Given the description of an element on the screen output the (x, y) to click on. 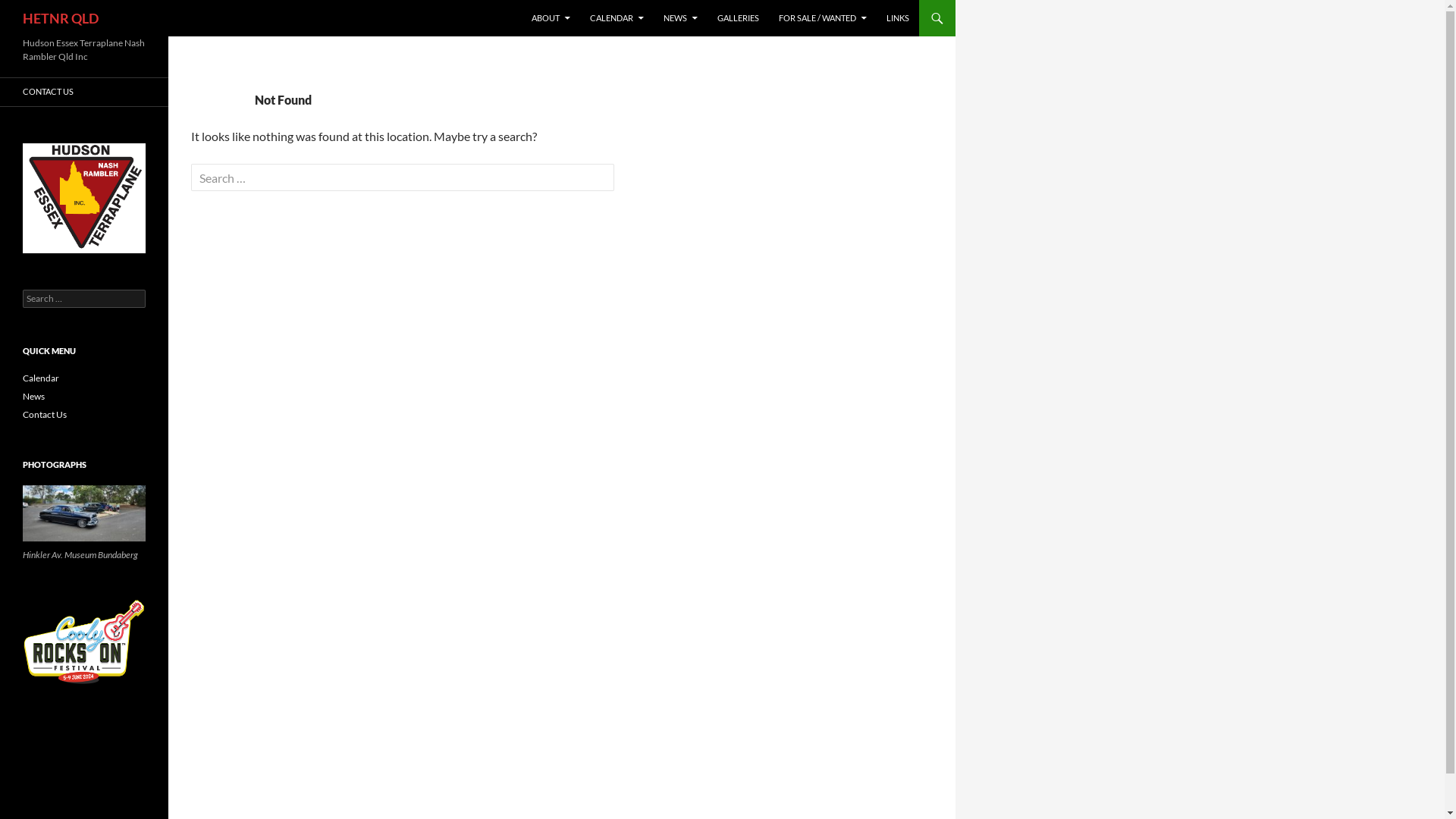
Search Element type: text (40, 13)
FOR SALE / WANTED Element type: text (822, 18)
GALLERIES Element type: text (738, 18)
NEWS Element type: text (680, 18)
News Element type: text (33, 395)
CONTACT US Element type: text (84, 92)
Search Element type: text (29, 9)
CALENDAR Element type: text (616, 18)
ABOUT Element type: text (550, 18)
LINKS Element type: text (897, 18)
HETNR QLD Element type: text (60, 18)
Calendar Element type: text (40, 376)
Contact Us Element type: text (44, 413)
